Given the description of an element on the screen output the (x, y) to click on. 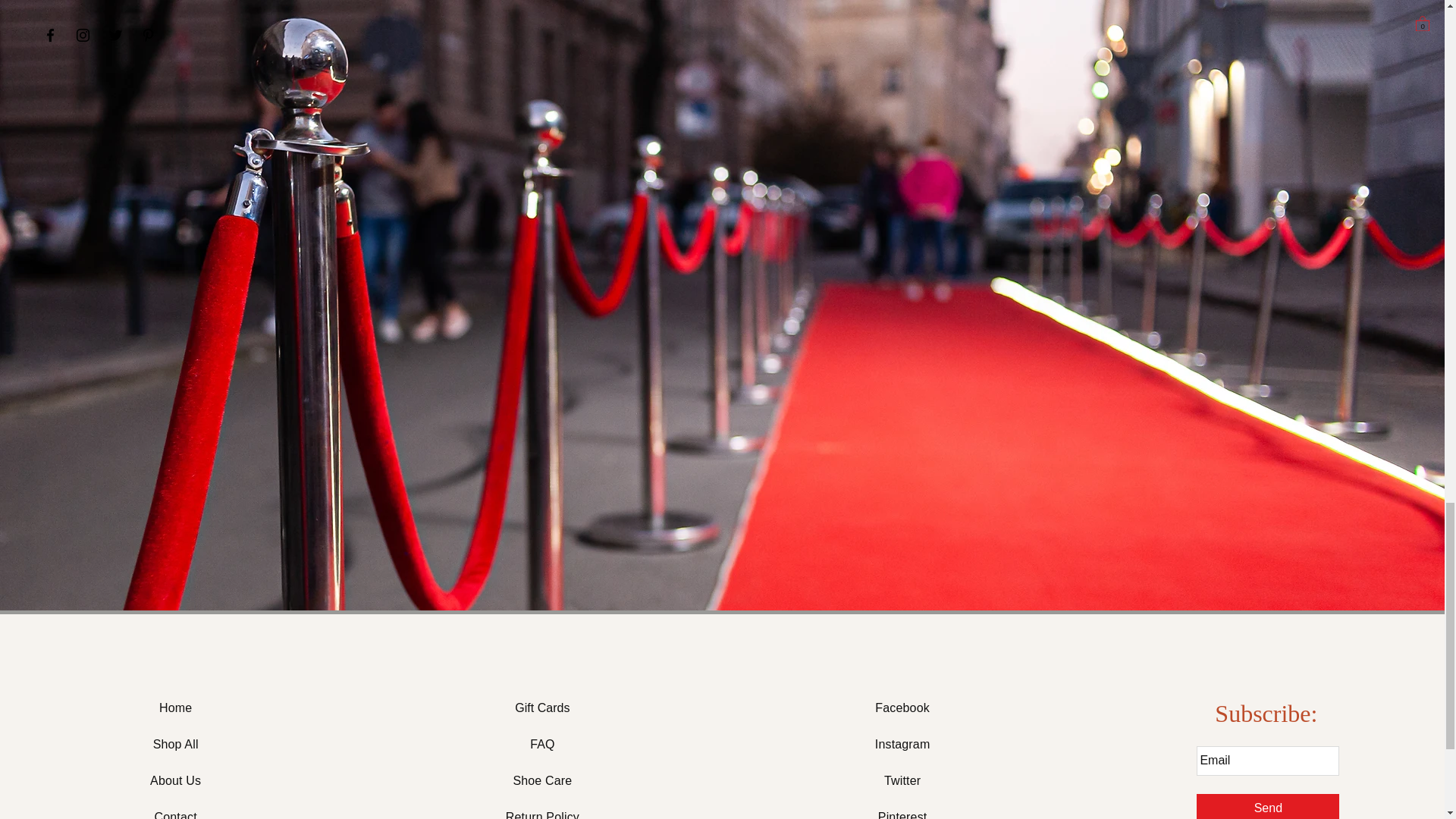
Return Policy (542, 814)
FAQ (541, 744)
Pinterest (902, 814)
Instagram (902, 744)
Gift Cards (542, 707)
Send (1267, 806)
Facebook (902, 707)
Home (175, 707)
Shoe Care (542, 780)
Twitter (901, 780)
About Us (174, 780)
Contact (175, 814)
Shop All (175, 744)
